Given the description of an element on the screen output the (x, y) to click on. 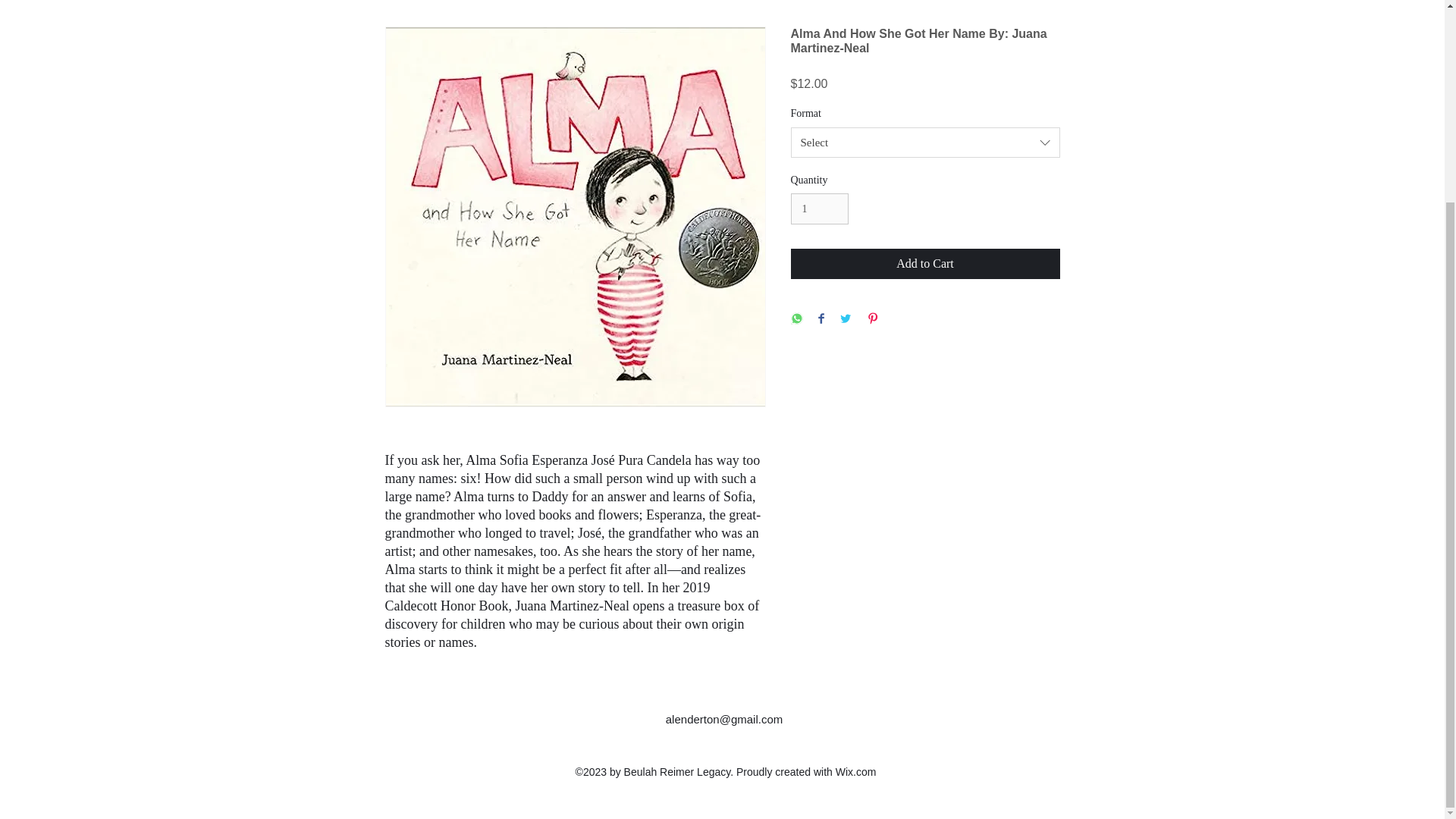
1 (818, 208)
Select (924, 142)
Add to Cart (924, 263)
